Given the description of an element on the screen output the (x, y) to click on. 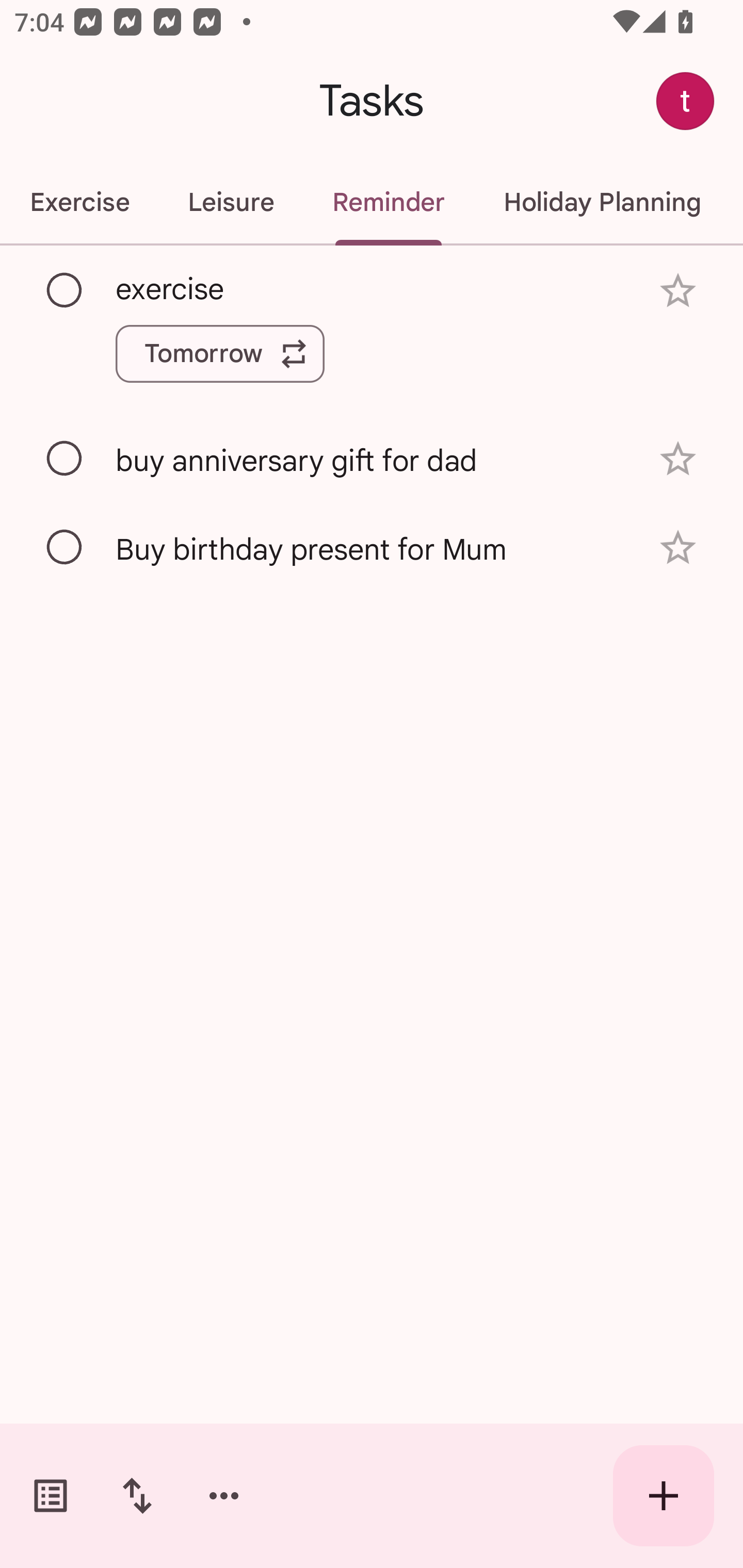
Exercise (79, 202)
Leisure (230, 202)
Holiday Planning (602, 202)
Add star (677, 290)
Mark as complete (64, 290)
Tomorrow (219, 353)
Add star (677, 458)
Mark as complete (64, 459)
Add star (677, 547)
Mark as complete (64, 547)
Switch task lists (50, 1495)
Create new task (663, 1495)
Change sort order (136, 1495)
More options (223, 1495)
